Given the description of an element on the screen output the (x, y) to click on. 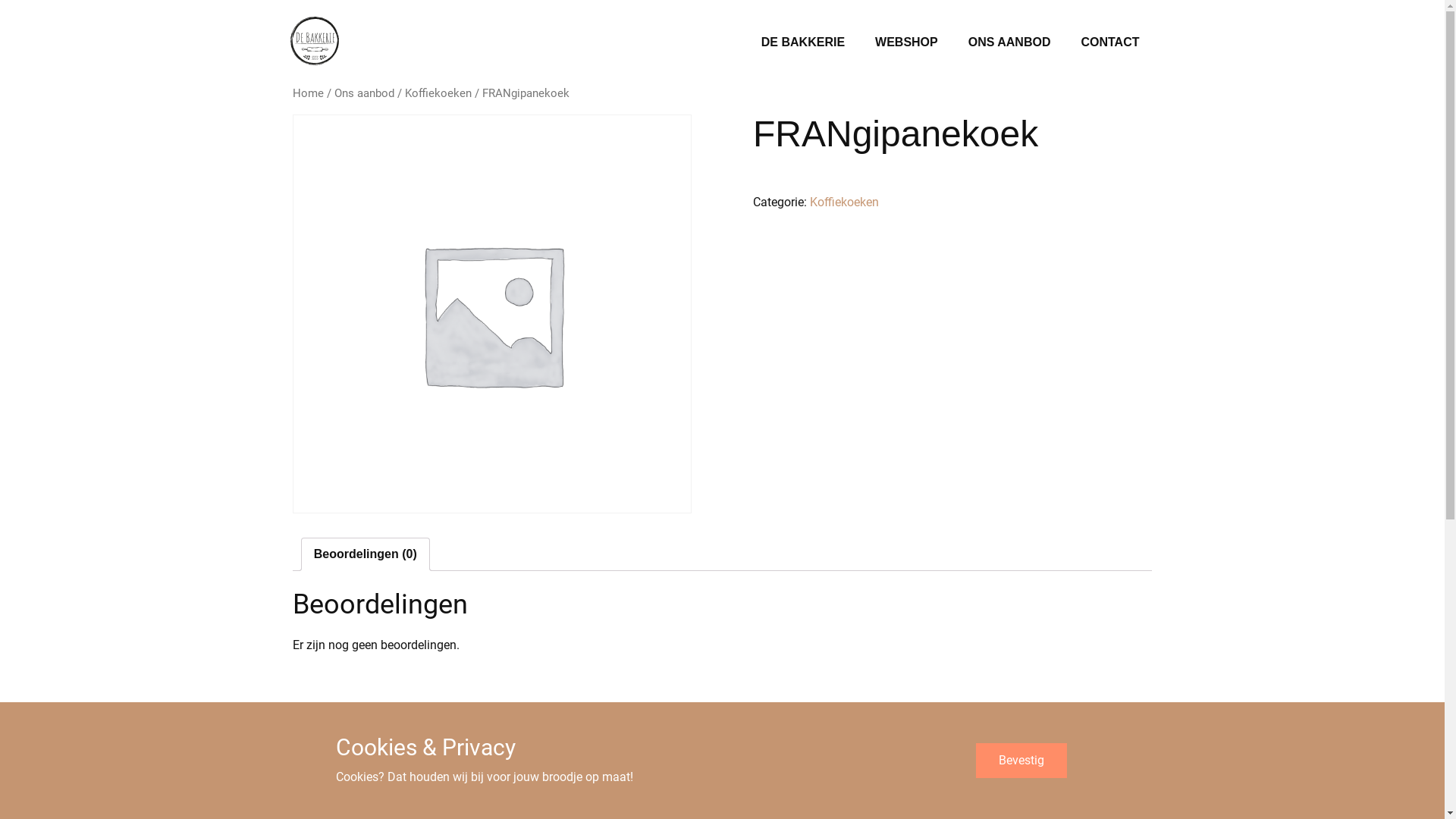
Bevestig Element type: text (1020, 760)
Home Element type: text (307, 93)
Ons aanbod Element type: text (364, 93)
ONS AANBOD Element type: text (1009, 42)
Koffiekoeken Element type: text (843, 201)
CONTACT Element type: text (1109, 42)
DE BAKKERIE Element type: text (802, 42)
Beoordelingen (0) Element type: text (365, 554)
Koffiekoeken Element type: text (437, 93)
WEBSHOP Element type: text (906, 42)
